Given the description of an element on the screen output the (x, y) to click on. 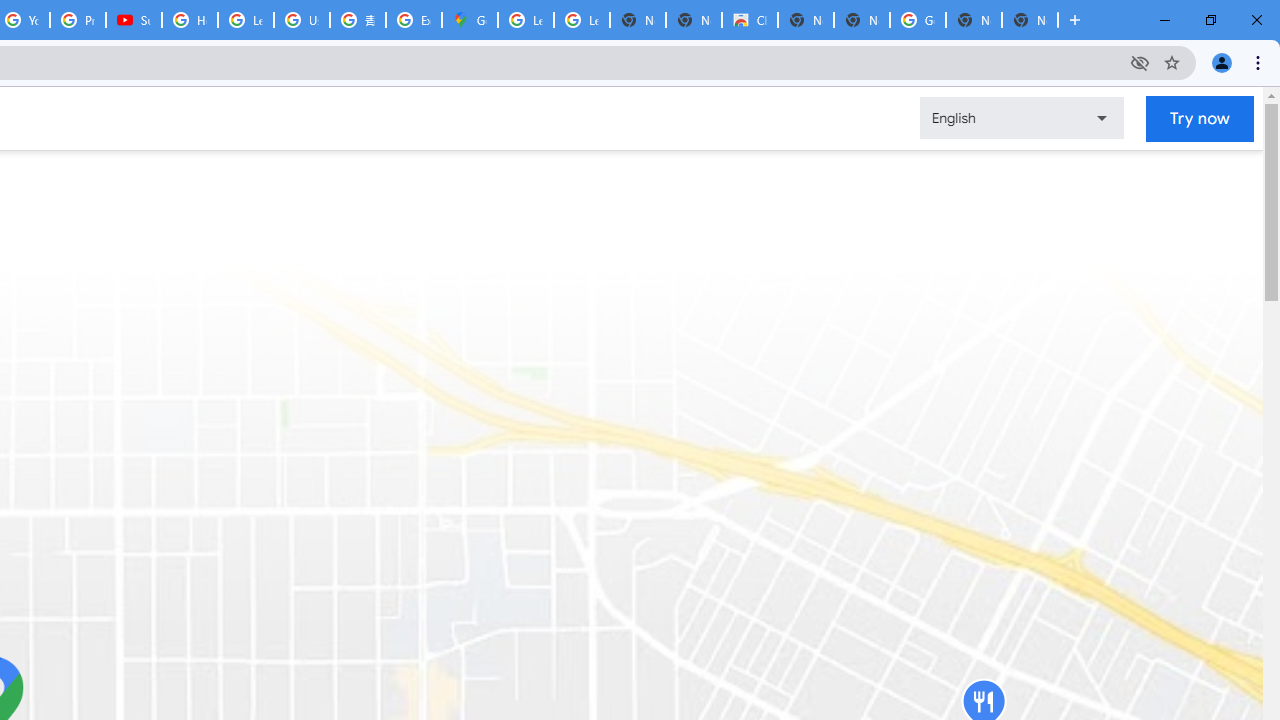
Explore new street-level details - Google Maps Help (413, 20)
Google Maps (469, 20)
Change language or region (1021, 117)
